Given the description of an element on the screen output the (x, y) to click on. 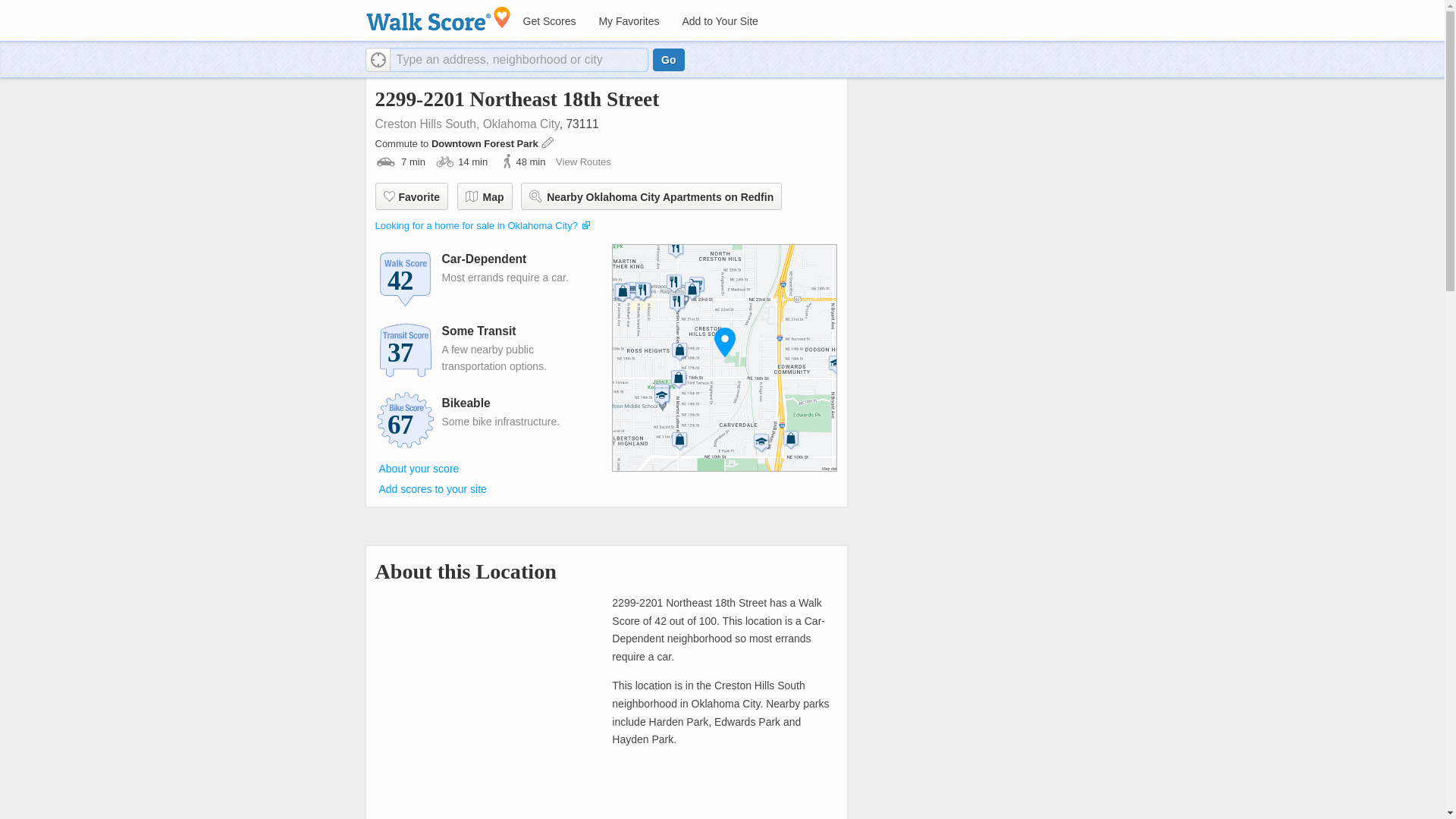
Creston Hills South, (426, 123)
Add scores to your site (432, 489)
My Favorites (628, 21)
Go (668, 59)
About your score (419, 468)
View Routes (583, 161)
Oklahoma City (521, 123)
3rd party ad content (975, 196)
Favorite (410, 195)
Get Scores (548, 21)
Add to Your Site (719, 21)
Map (484, 195)
Looking for a home for sale in Oklahoma City? (475, 225)
Nearby Oklahoma City Apartments on Redfin (651, 195)
Downtown Forest Park (485, 143)
